Given the description of an element on the screen output the (x, y) to click on. 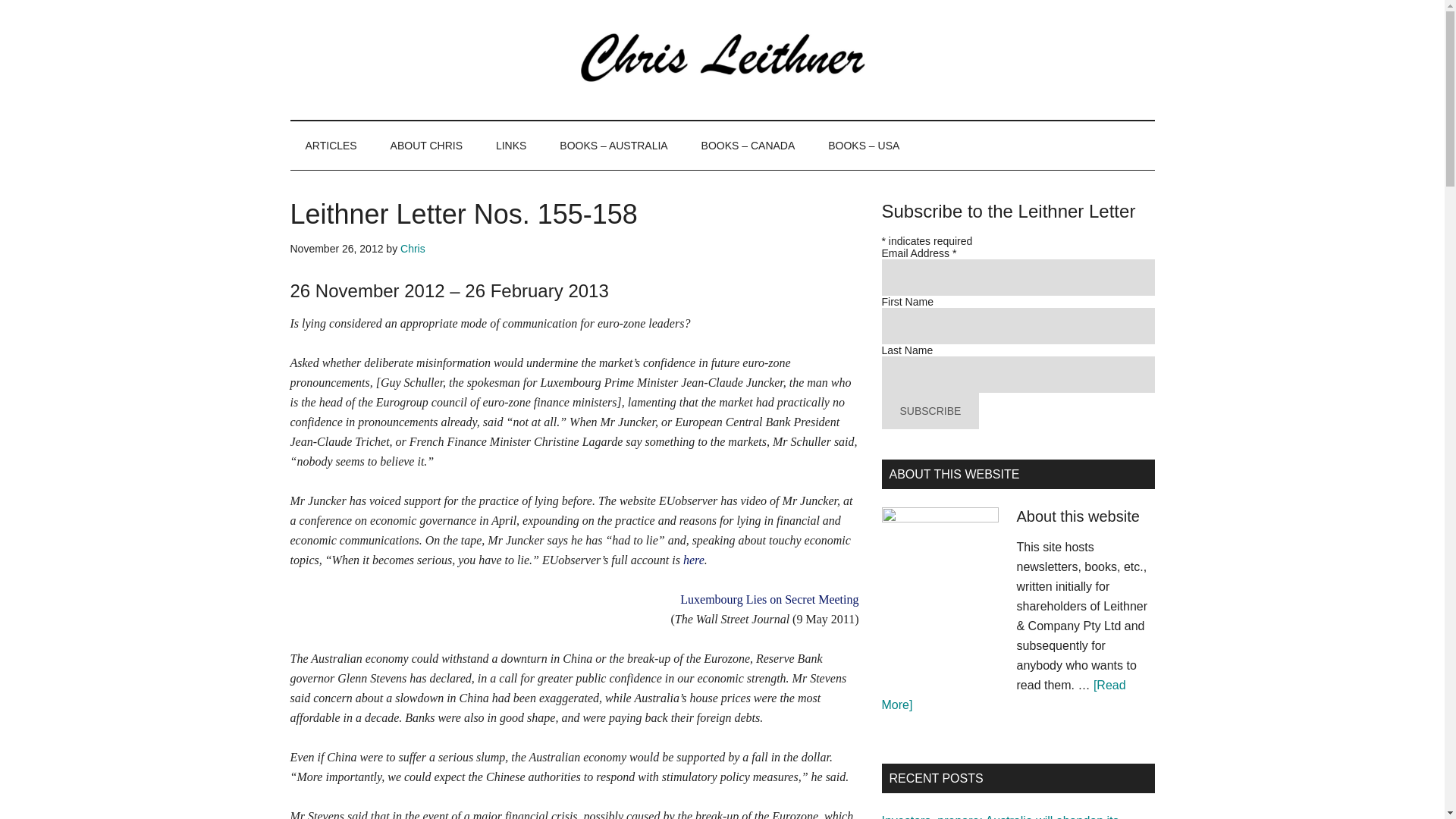
Chris (412, 248)
ABOUT CHRIS (426, 145)
here (693, 559)
Subscribe (929, 411)
LINKS (510, 145)
Subscribe (929, 411)
ARTICLES (330, 145)
About this website (1077, 515)
Luxembourg Lies on Secret Meeting (769, 599)
